Given the description of an element on the screen output the (x, y) to click on. 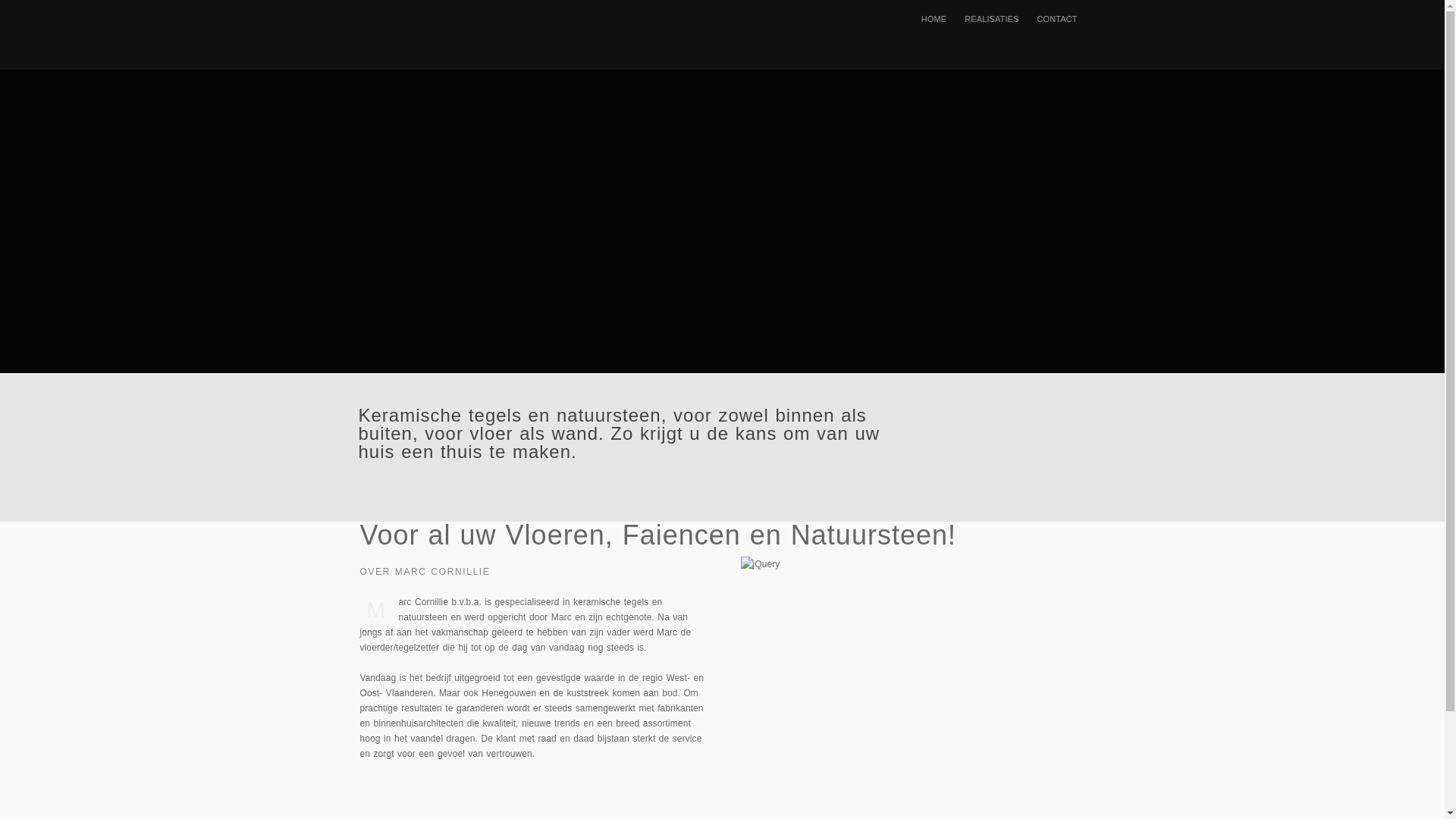
HOME Element type: text (933, 18)
CONTACT Element type: text (1056, 18)
REALISATIES Element type: text (991, 18)
